Given the description of an element on the screen output the (x, y) to click on. 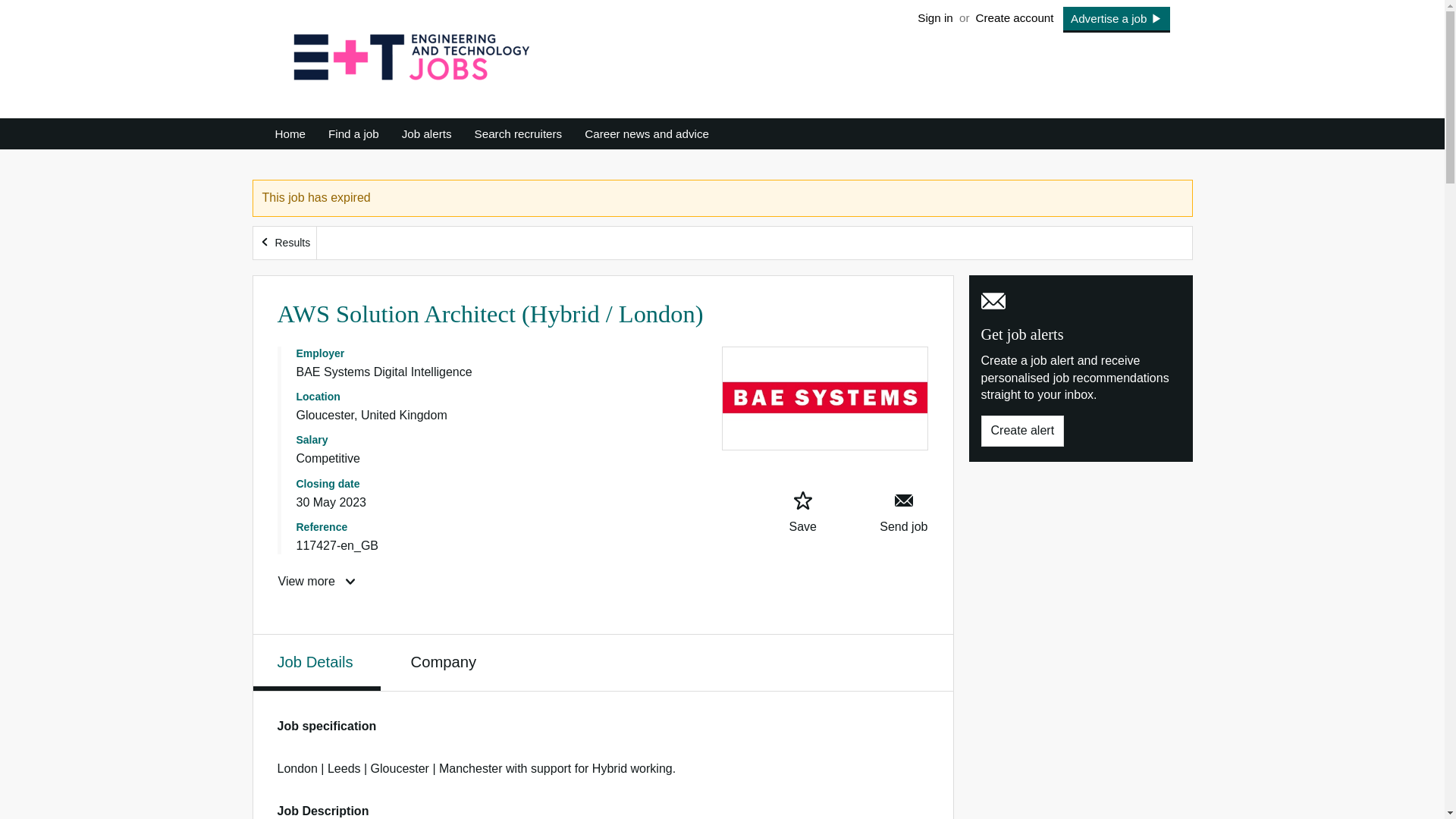
Results (285, 242)
Company (445, 660)
Sign in (935, 17)
Search recruiters (518, 133)
Job Details (316, 662)
View more (318, 581)
Job alerts (426, 133)
Find a job (353, 133)
Create account (1015, 17)
Home (296, 133)
Career news and advice (646, 133)
BAE Systems Digital Intelligence (383, 371)
Advertise a job (1115, 19)
